Given the description of an element on the screen output the (x, y) to click on. 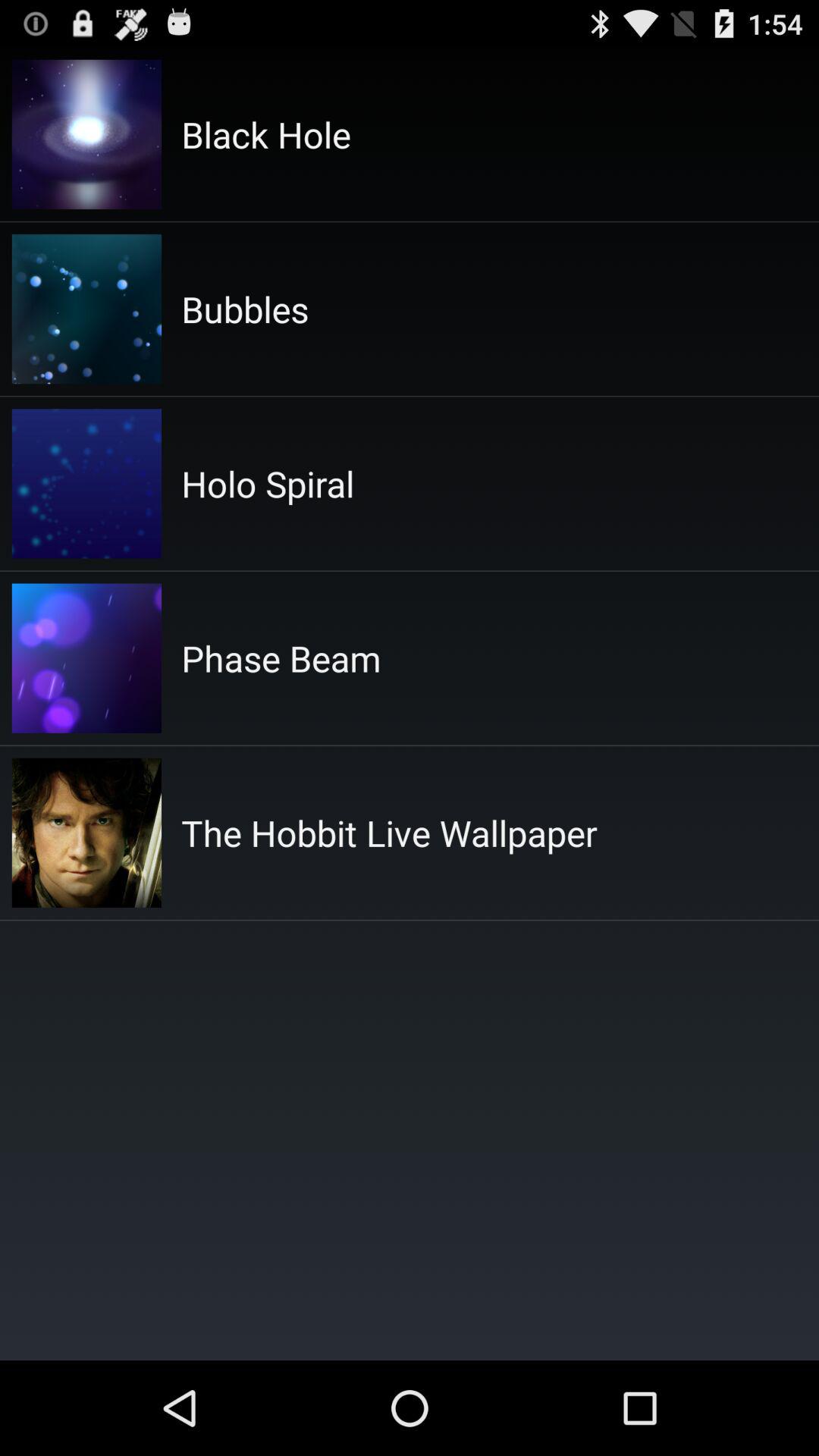
launch the icon below holo spiral (281, 658)
